Given the description of an element on the screen output the (x, y) to click on. 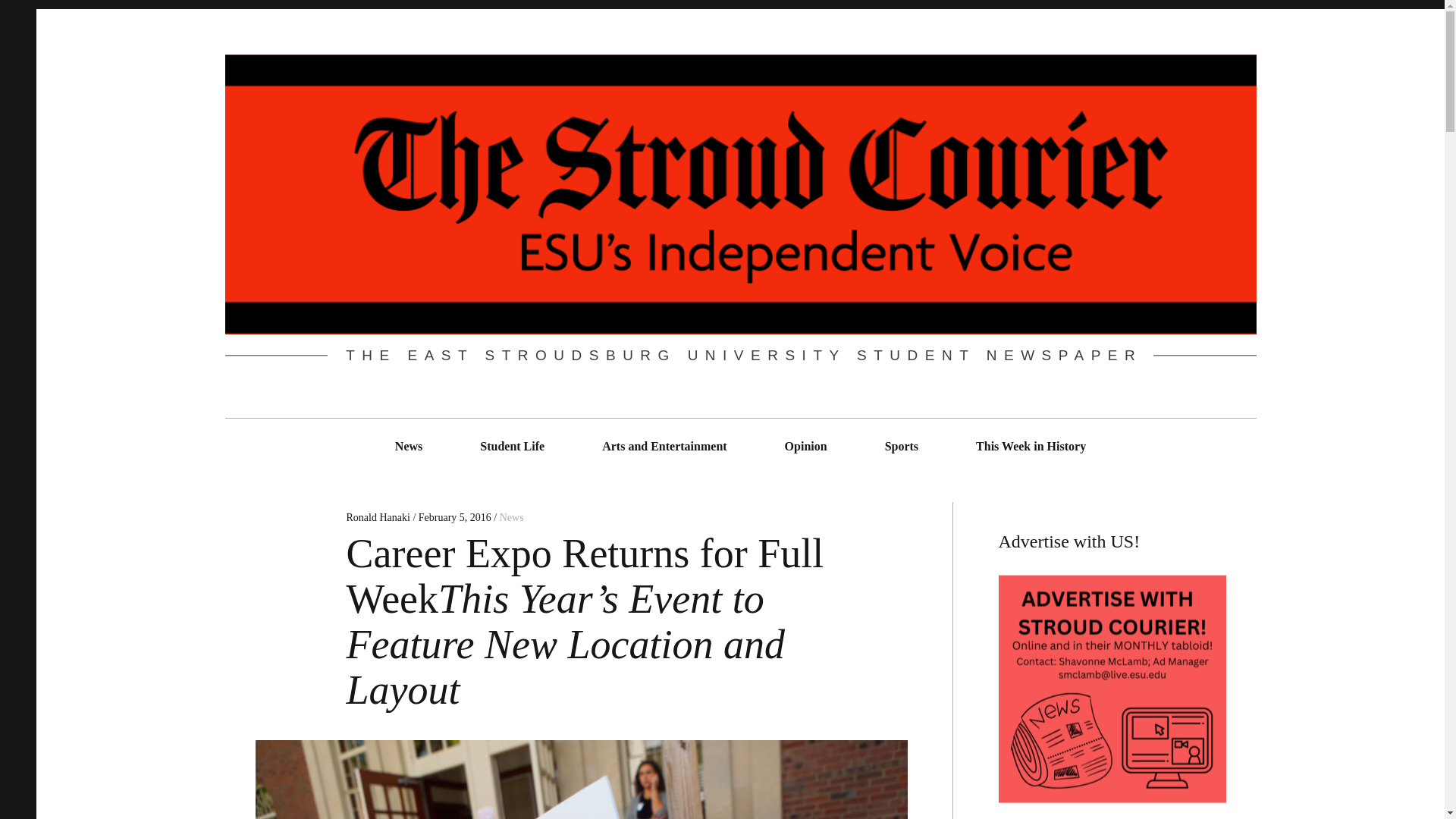
Opinion (805, 446)
This Week in History (1031, 446)
Student Life (512, 446)
Arts and Entertainment (664, 446)
News (511, 517)
Sports (900, 446)
February 5, 2016 (455, 517)
News (408, 446)
Ronald Hanaki (379, 517)
